Given the description of an element on the screen output the (x, y) to click on. 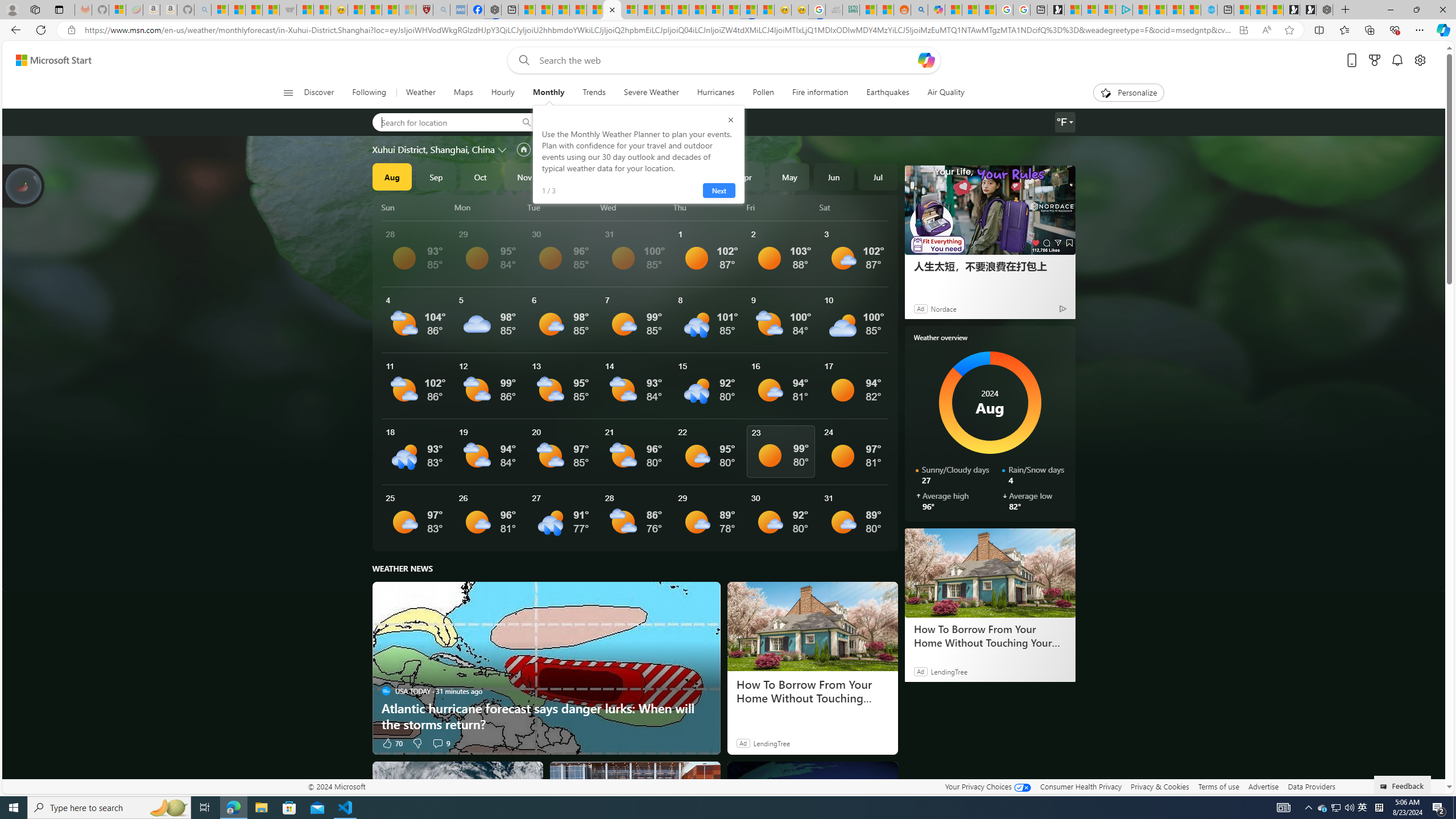
Sat (853, 207)
Xuhui District, Shanghai, China (433, 149)
Air Quality (945, 92)
Personalize (1128, 92)
Jul (877, 176)
Robert H. Shmerling, MD - Harvard Health (424, 9)
Class: button-glyph (287, 92)
Oct (480, 176)
